Given the description of an element on the screen output the (x, y) to click on. 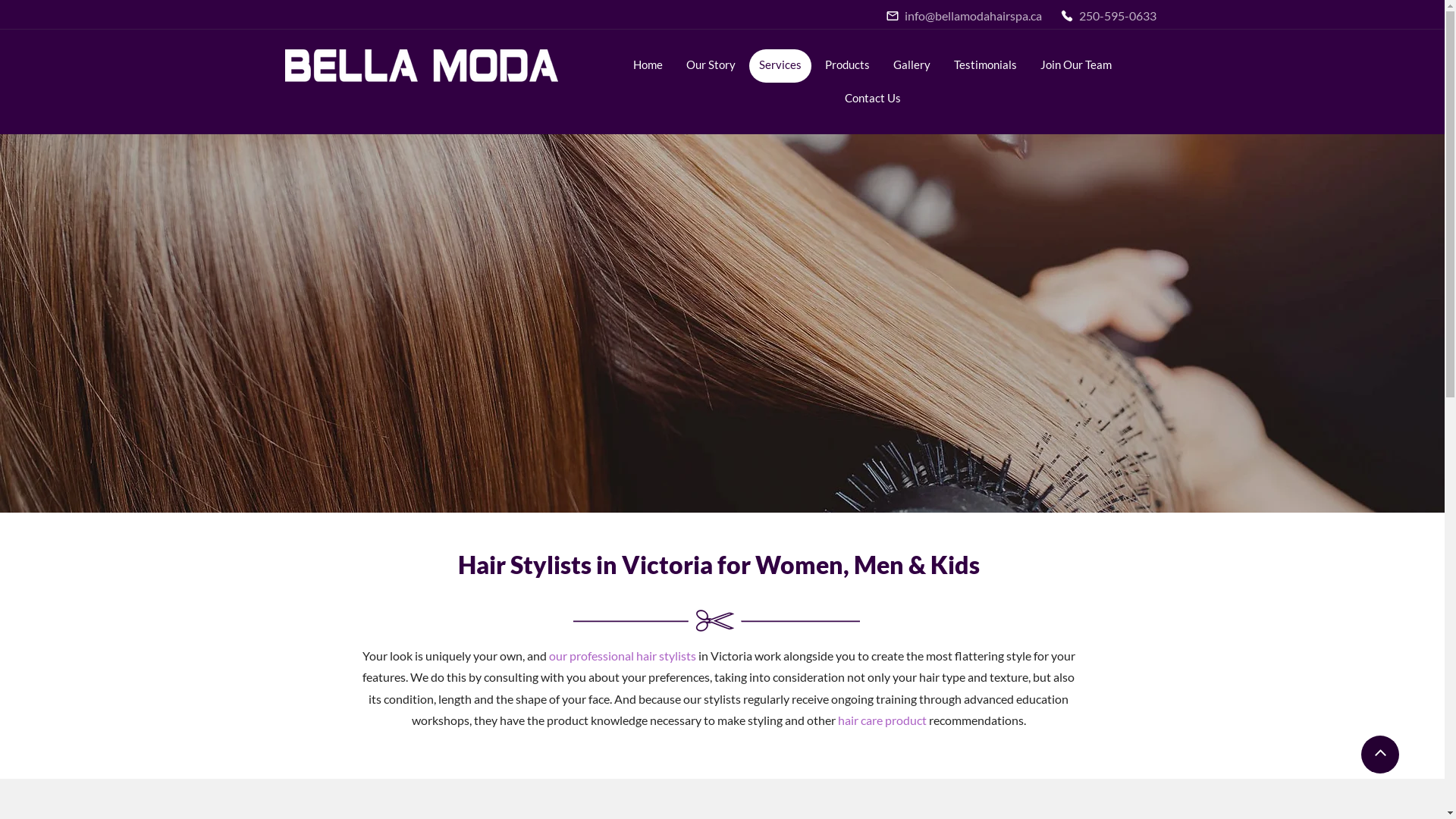
our professional hair stylists Element type: text (622, 655)
Gallery Element type: text (911, 65)
Our Story Element type: text (710, 65)
Join Our Team Element type: text (1075, 65)
250-595-0633 Element type: text (1110, 15)
info@bellamodahairspa.ca Element type: text (964, 15)
hair care product Element type: text (881, 719)
Home Element type: text (647, 65)
Services Element type: text (780, 65)
Contact Us Element type: text (872, 99)
Products Element type: text (847, 65)
Testimonials Element type: text (985, 65)
